Given the description of an element on the screen output the (x, y) to click on. 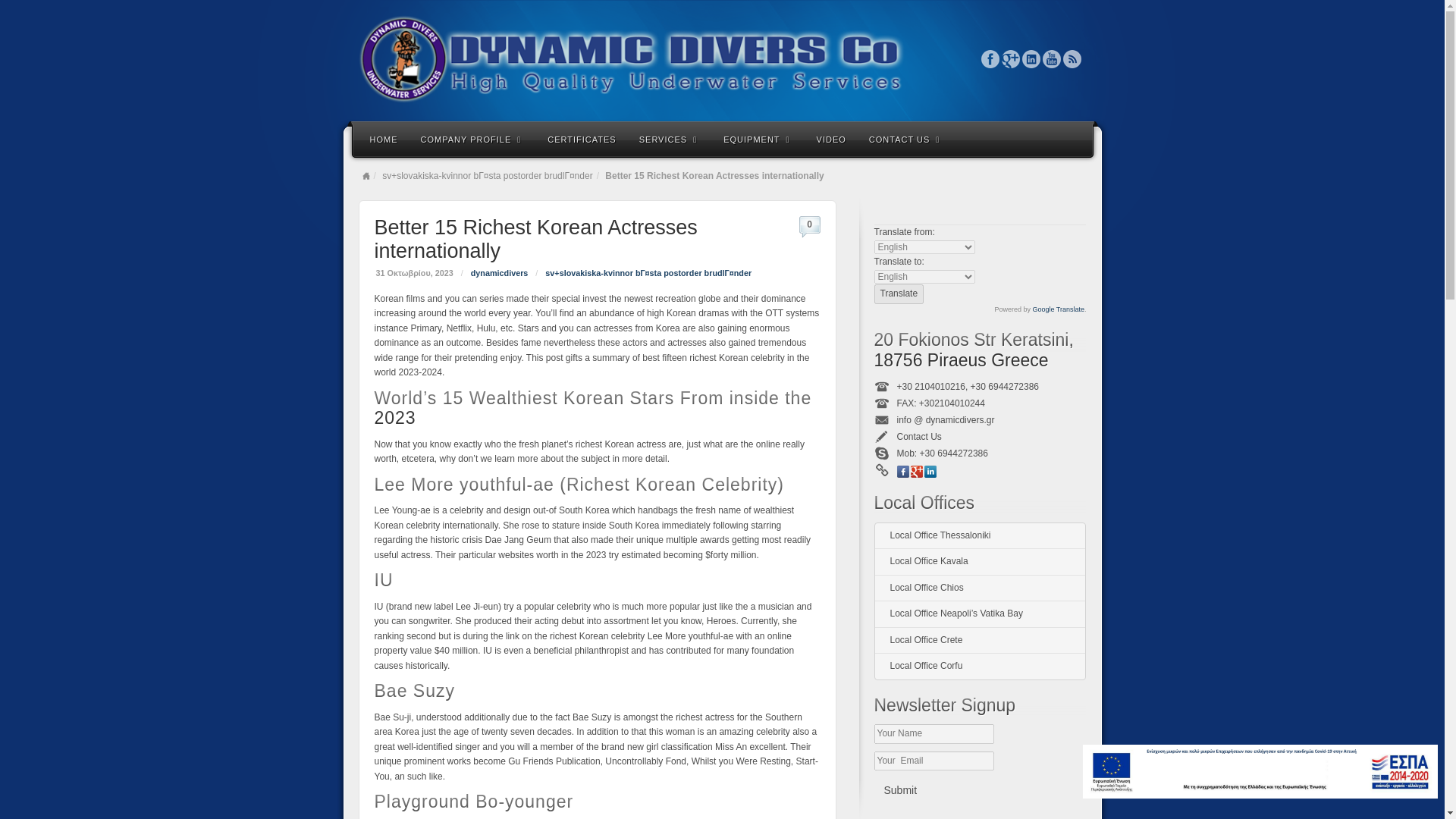
Submit (899, 790)
YouTube (1051, 58)
CERTIFICATES (581, 138)
Facebook (990, 58)
Facebook (990, 58)
Linkedin (929, 471)
Linkedin (1031, 58)
CONTACT US (906, 138)
VIDEO (831, 138)
Translate (898, 293)
Dynamic Divers - Underwater Services (722, 59)
Linkedin (1031, 58)
HOME (383, 138)
RSS (1071, 58)
RSS (1071, 58)
